Given the description of an element on the screen output the (x, y) to click on. 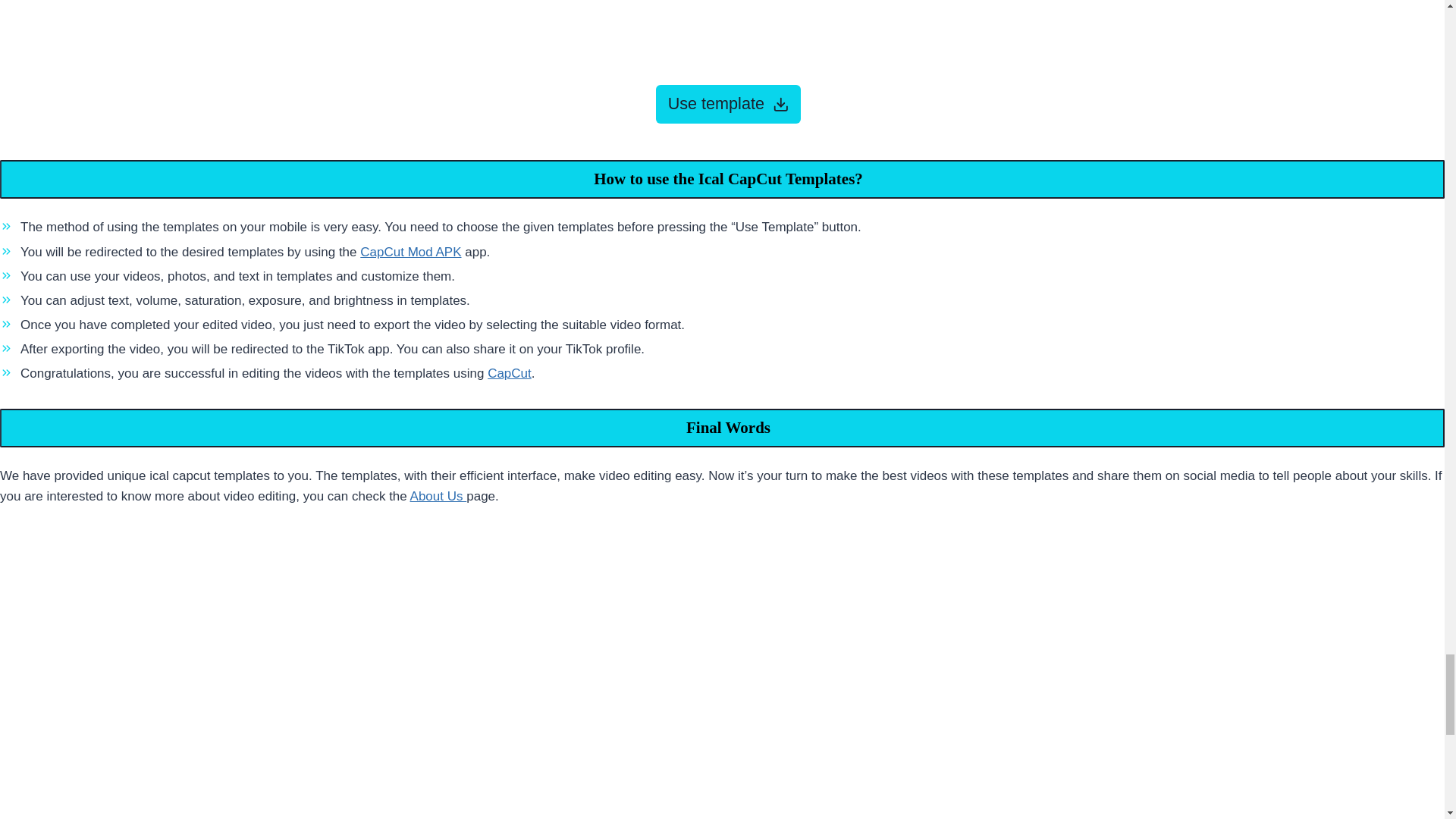
December 2, 2023 (722, 21)
